Given the description of an element on the screen output the (x, y) to click on. 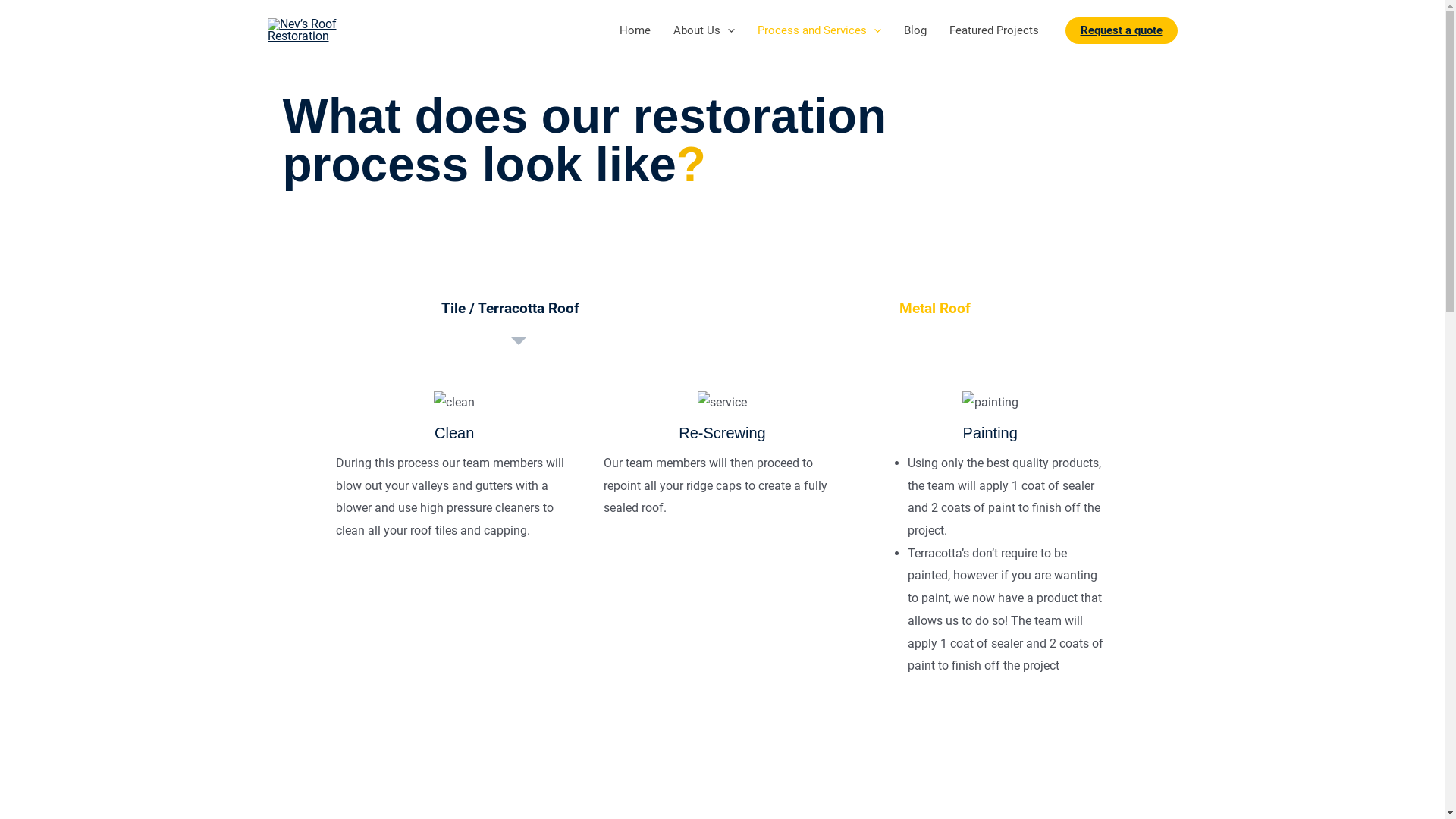
About Us Element type: text (703, 30)
Request a quote Element type: text (1120, 29)
Process and Services Element type: text (819, 30)
Home Element type: text (635, 30)
Blog Element type: text (914, 30)
Featured Projects Element type: text (993, 30)
